Given the description of an element on the screen output the (x, y) to click on. 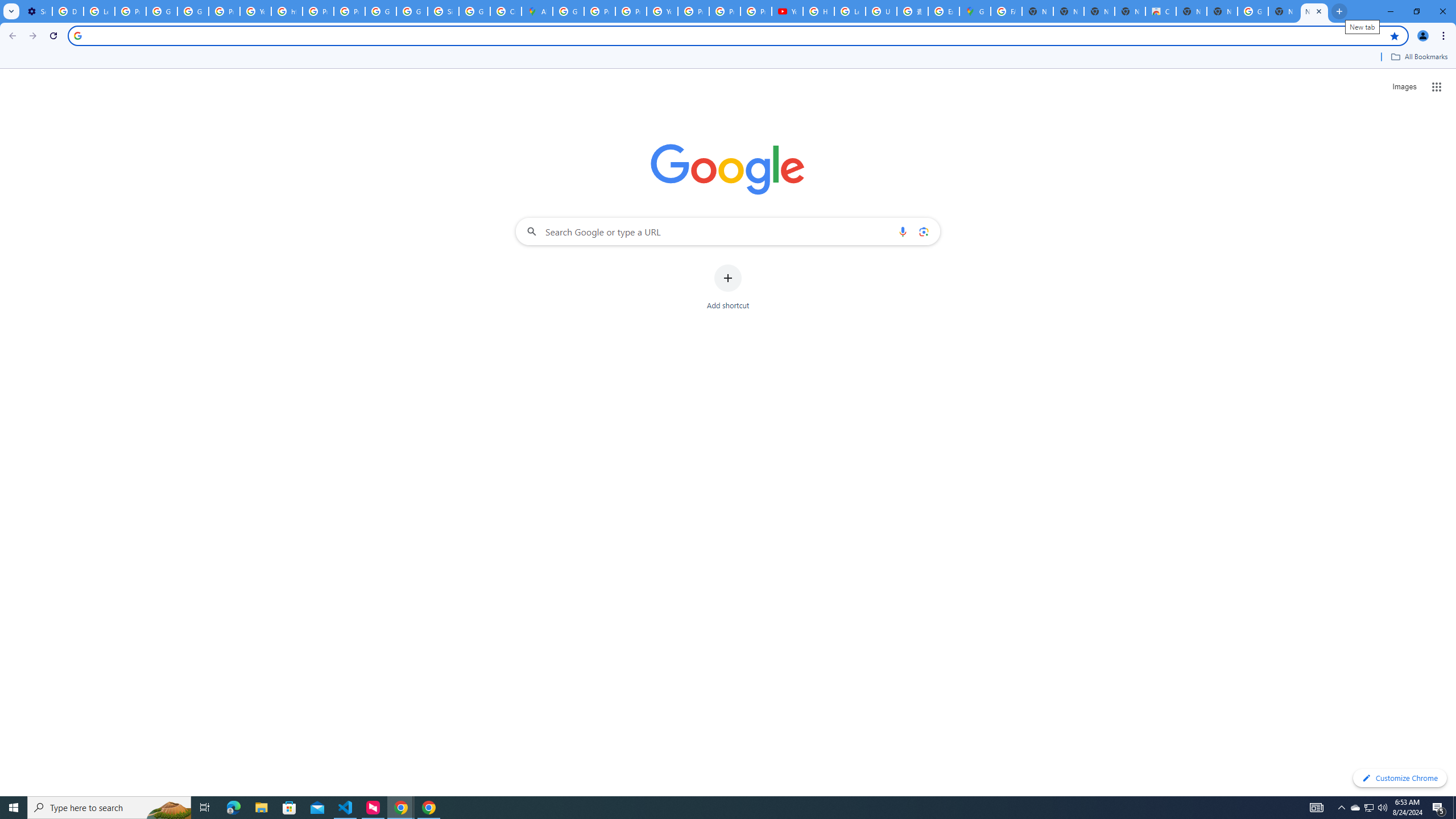
YouTube (787, 11)
New Tab (1222, 11)
Privacy Help Center - Policies Help (599, 11)
Sign in - Google Accounts (443, 11)
Bookmarks (728, 58)
Google Maps (974, 11)
Privacy Help Center - Policies Help (318, 11)
New Tab (1314, 11)
